Given the description of an element on the screen output the (x, y) to click on. 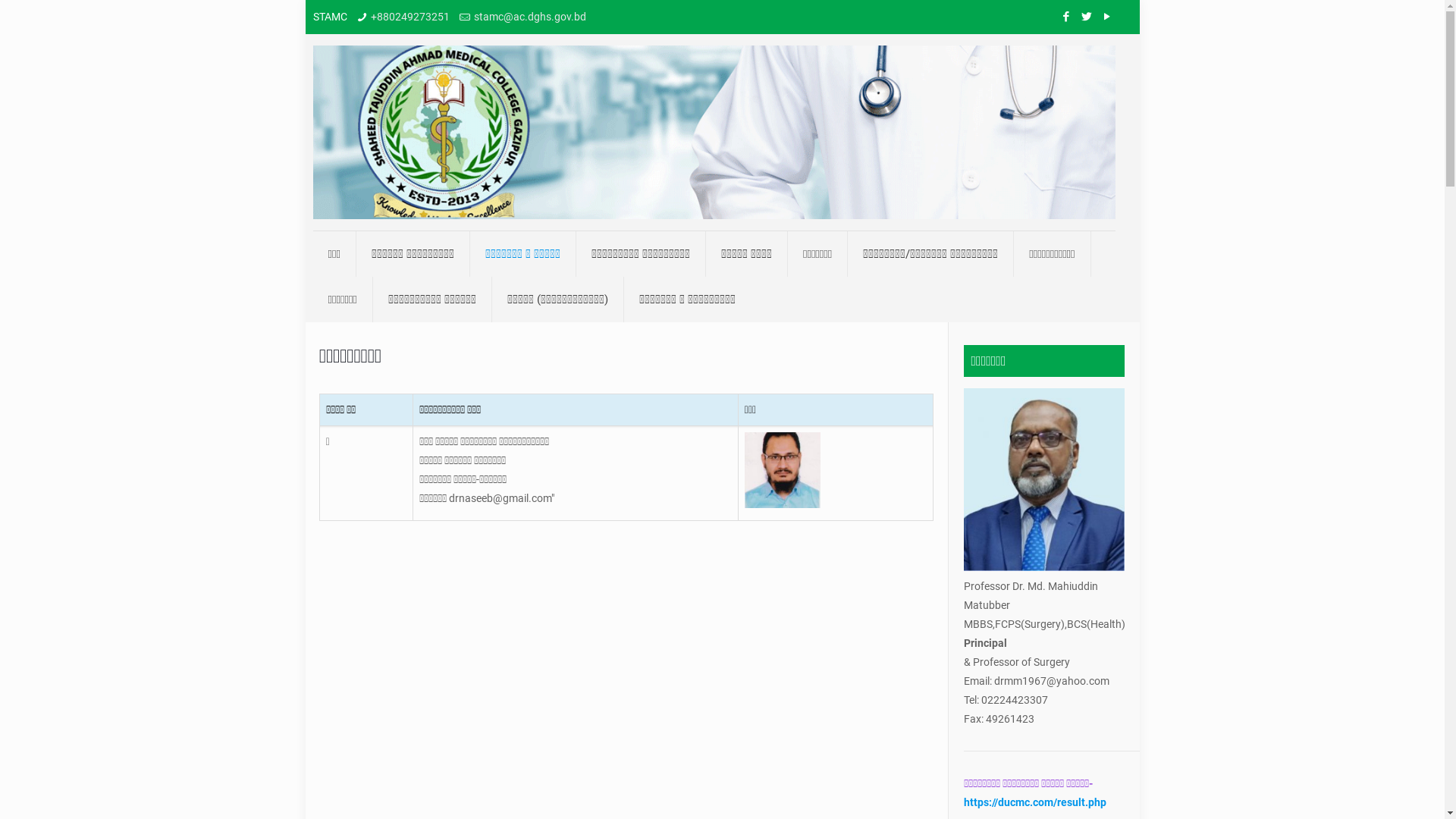
Facebook Element type: hover (1066, 16)
http Element type: text (972, 802)
STAMC Element type: hover (713, 132)
Twitter Element type: hover (1087, 16)
stamc@ac.dghs.gov.bd Element type: text (529, 16)
s://ducmc.com/result.php Element type: text (1043, 802)
+880249273251 Element type: text (409, 16)
YouTube Element type: hover (1107, 16)
